Given the description of an element on the screen output the (x, y) to click on. 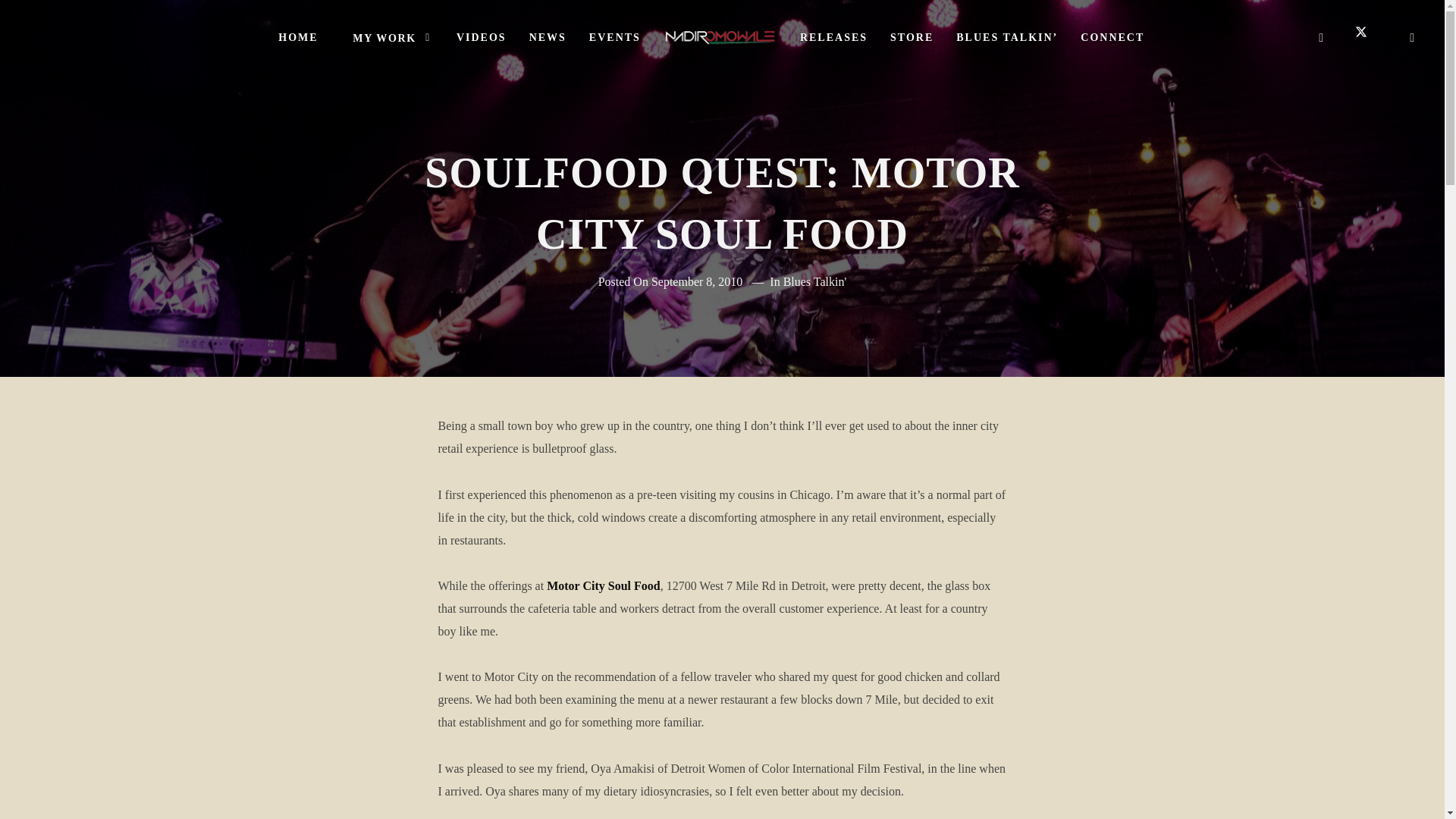
instagram (1412, 37)
VIDEOS (481, 38)
facebook (1320, 37)
Blues Talkin' (815, 281)
RELEASES (834, 38)
RELEASES (834, 38)
EVENTS (615, 38)
twitter (1366, 37)
View all posts in the Blues Talkin' category (815, 281)
EVENTS (615, 38)
